Given the description of an element on the screen output the (x, y) to click on. 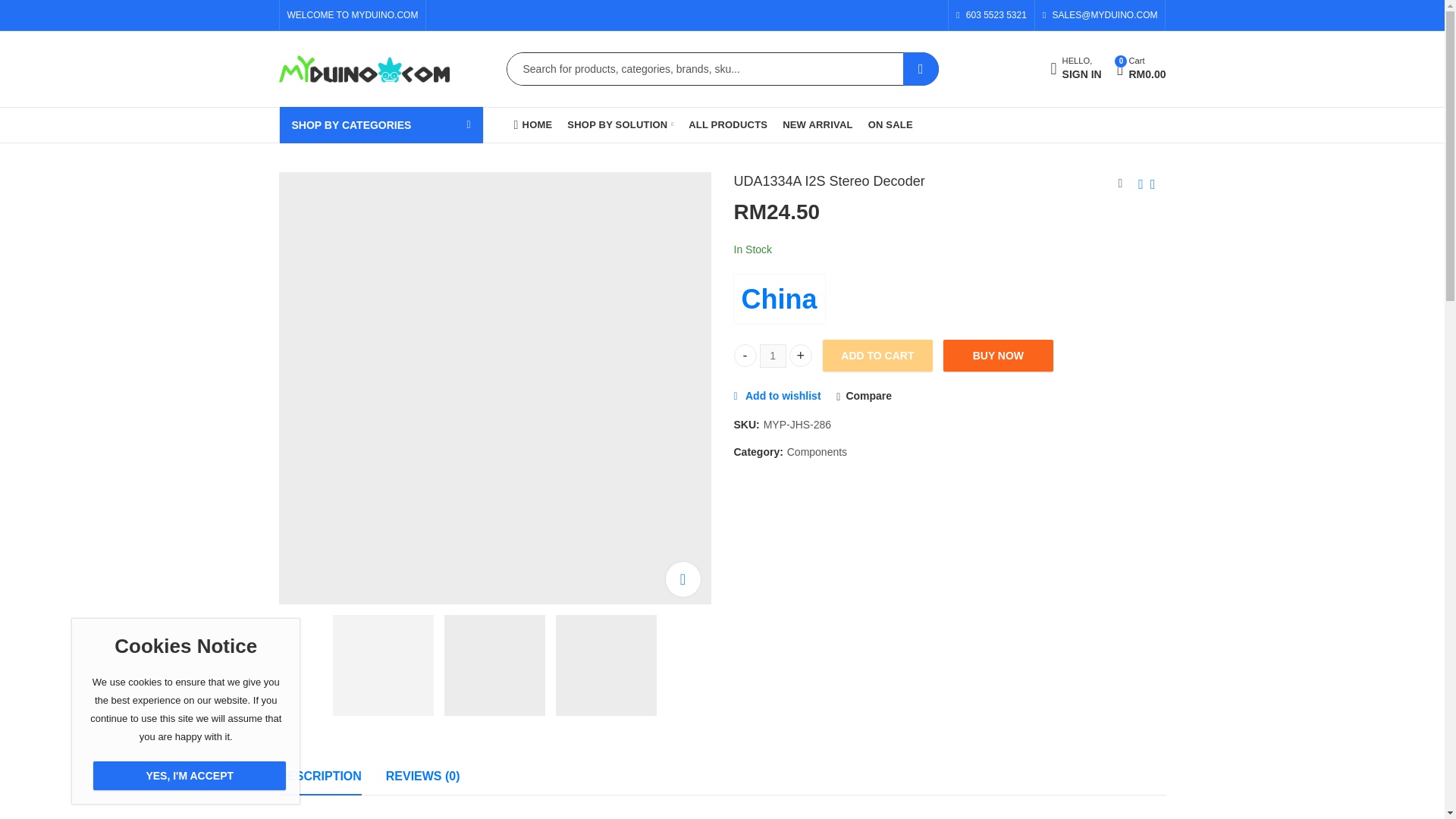
SEARCH (1076, 69)
China (920, 68)
Qty (1141, 68)
- (779, 299)
1 (773, 355)
